Given the description of an element on the screen output the (x, y) to click on. 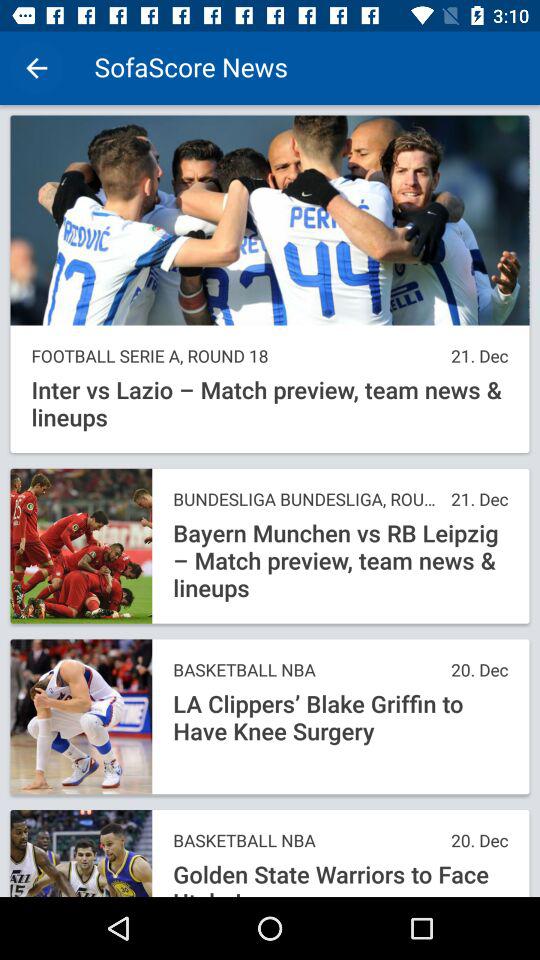
click the icon below the basketball nba  item (340, 718)
